Given the description of an element on the screen output the (x, y) to click on. 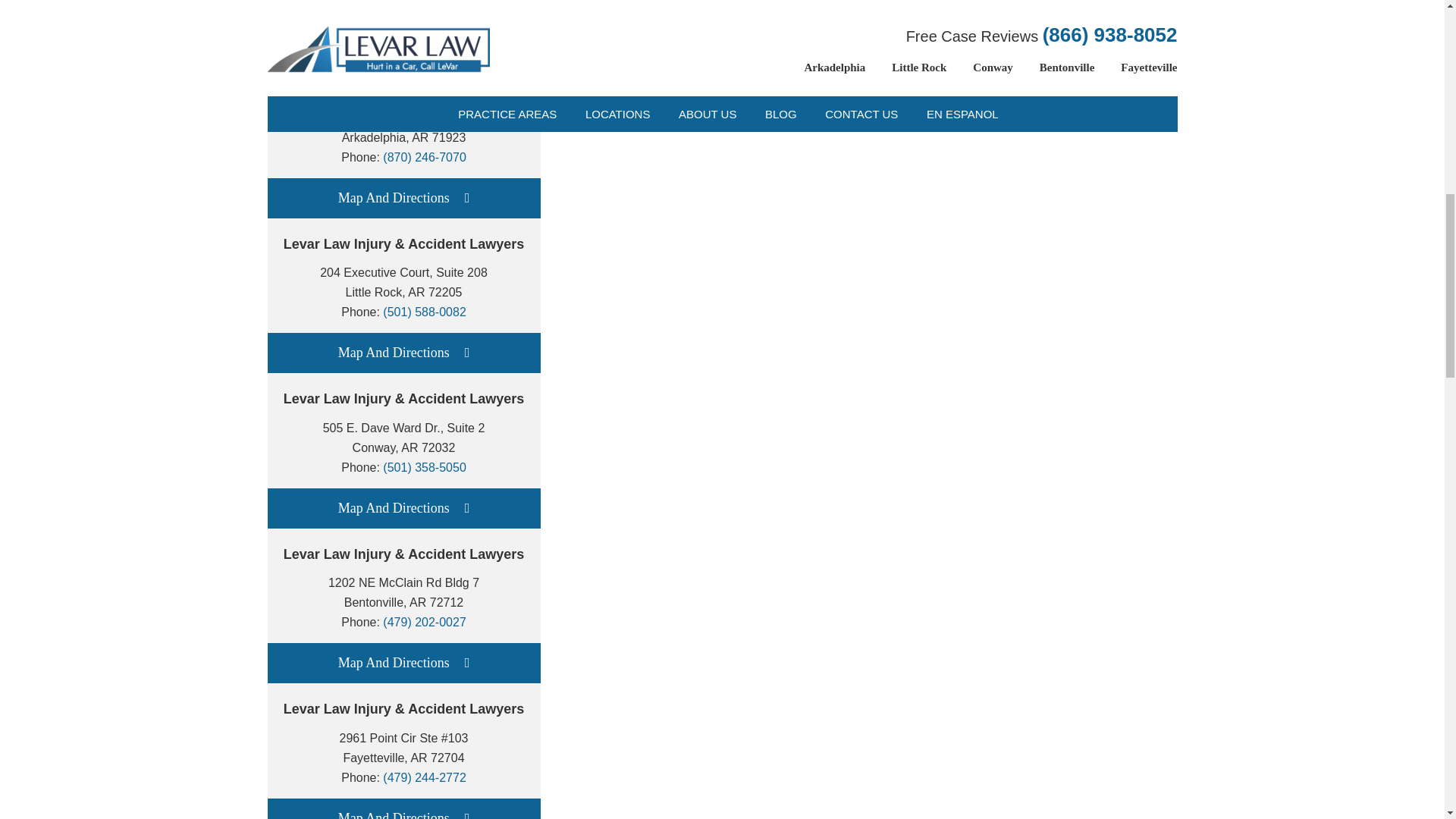
Map And Directions (403, 198)
